Given the description of an element on the screen output the (x, y) to click on. 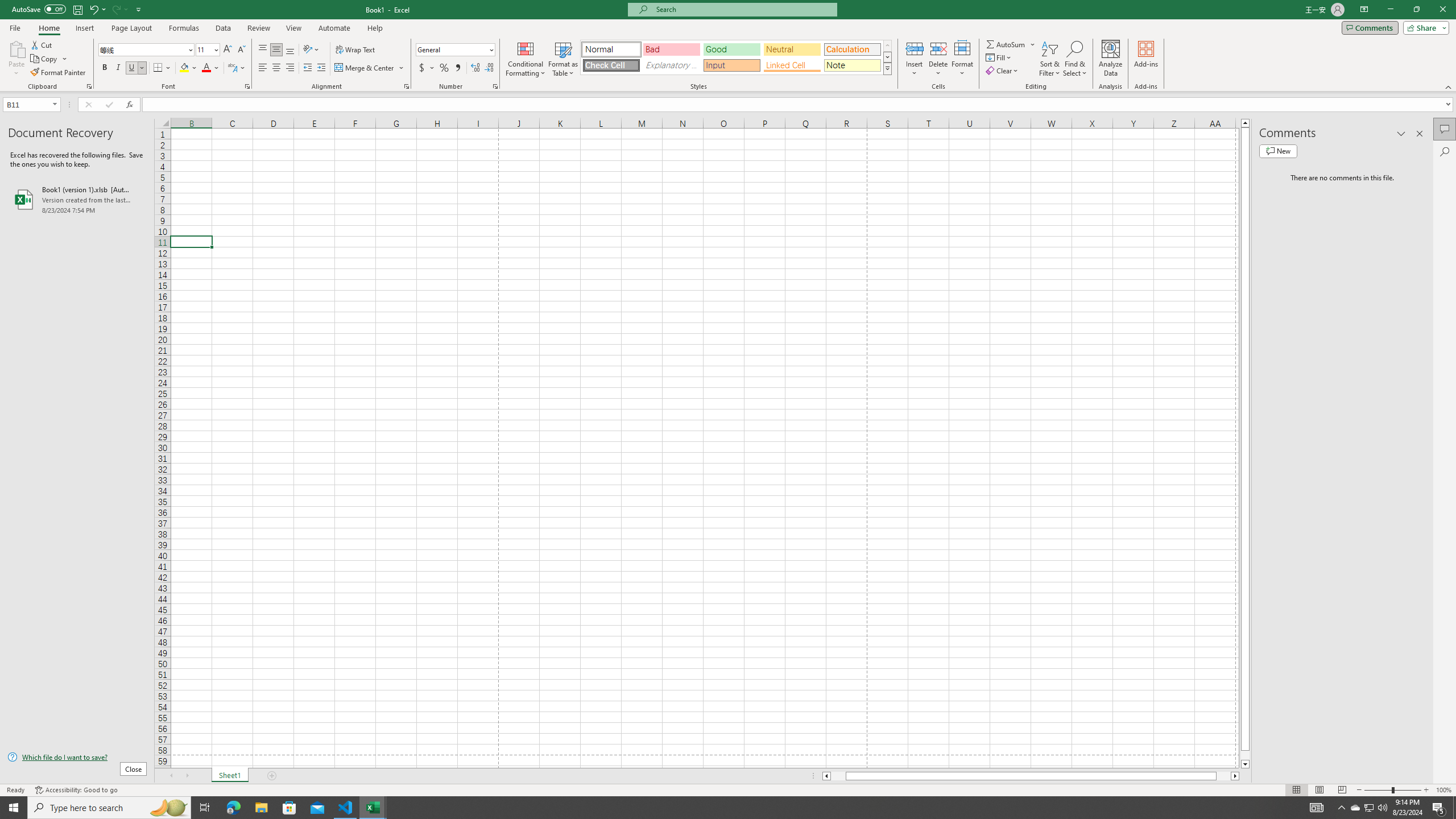
Decrease Decimal (489, 67)
Sort & Filter (1049, 58)
Format Cell Font (247, 85)
Cut (42, 44)
Input (731, 65)
Bad (671, 49)
